Given the description of an element on the screen output the (x, y) to click on. 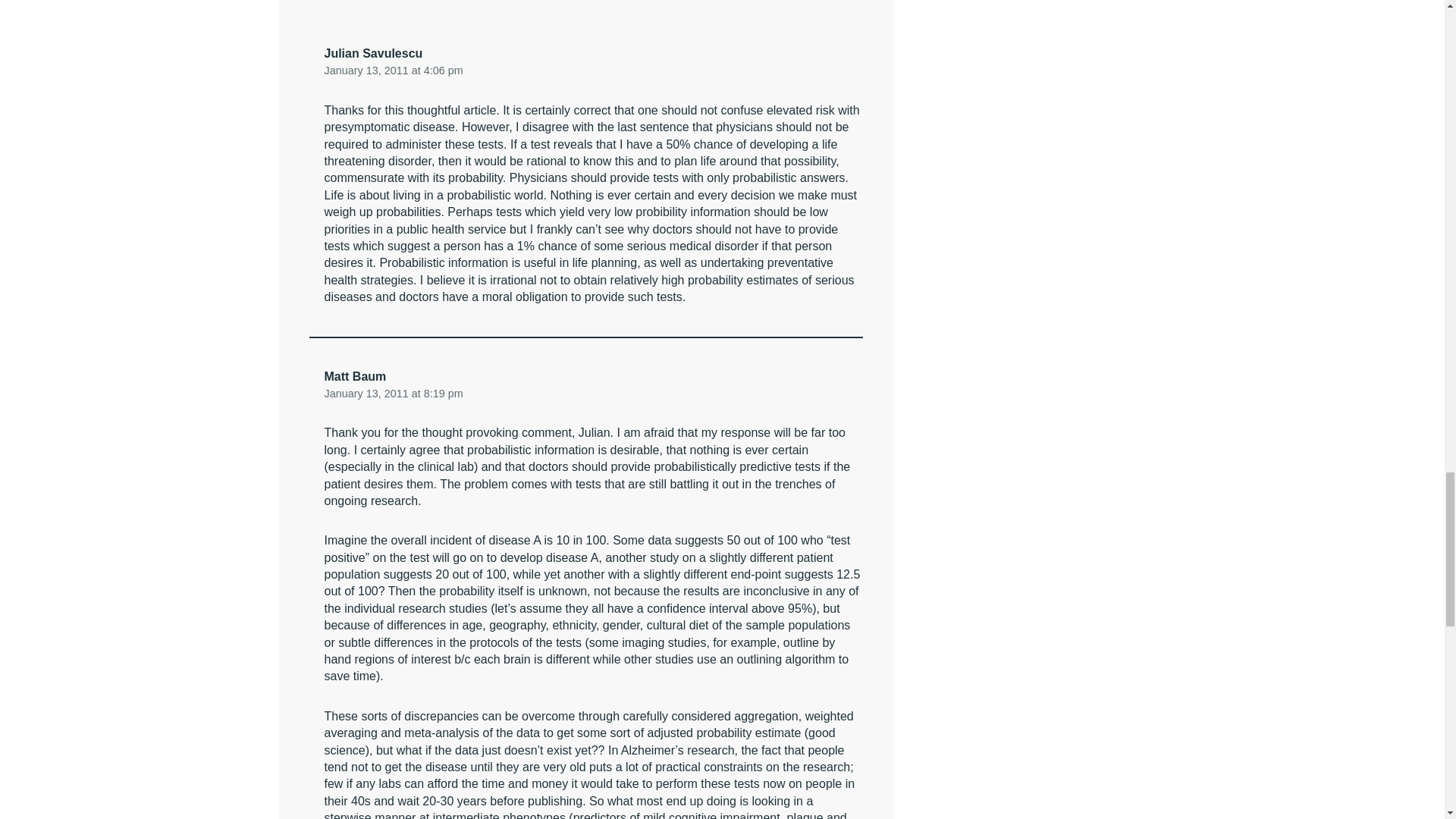
January 13, 2011 at 8:19 pm (393, 393)
January 13, 2011 at 4:06 pm (393, 70)
